Given the description of an element on the screen output the (x, y) to click on. 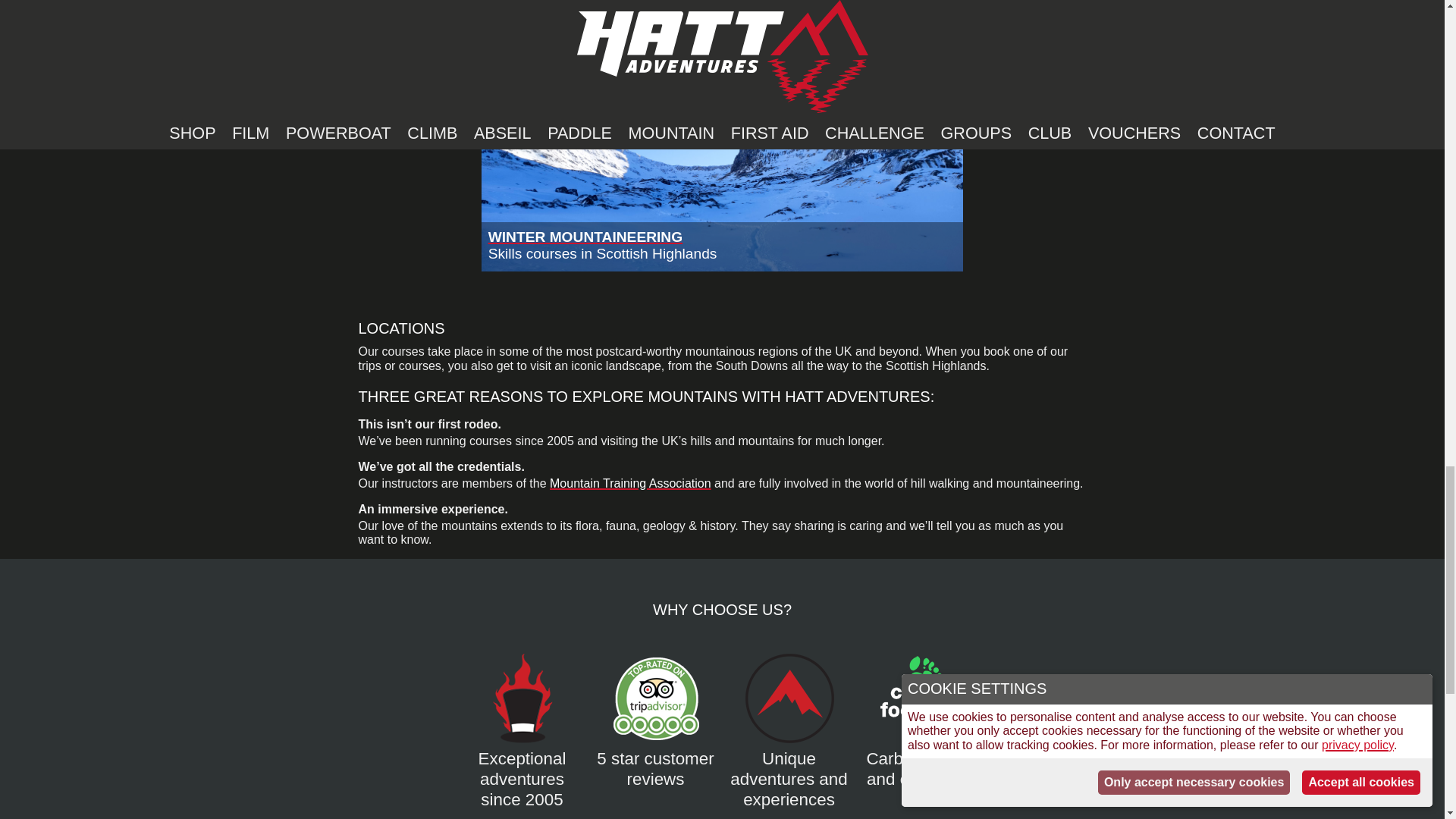
We specialise in unique adventures and experiences (788, 769)
We've been creating exceptional adventures since 2005 (521, 769)
Winter Mountaineering (721, 135)
